Given the description of an element on the screen output the (x, y) to click on. 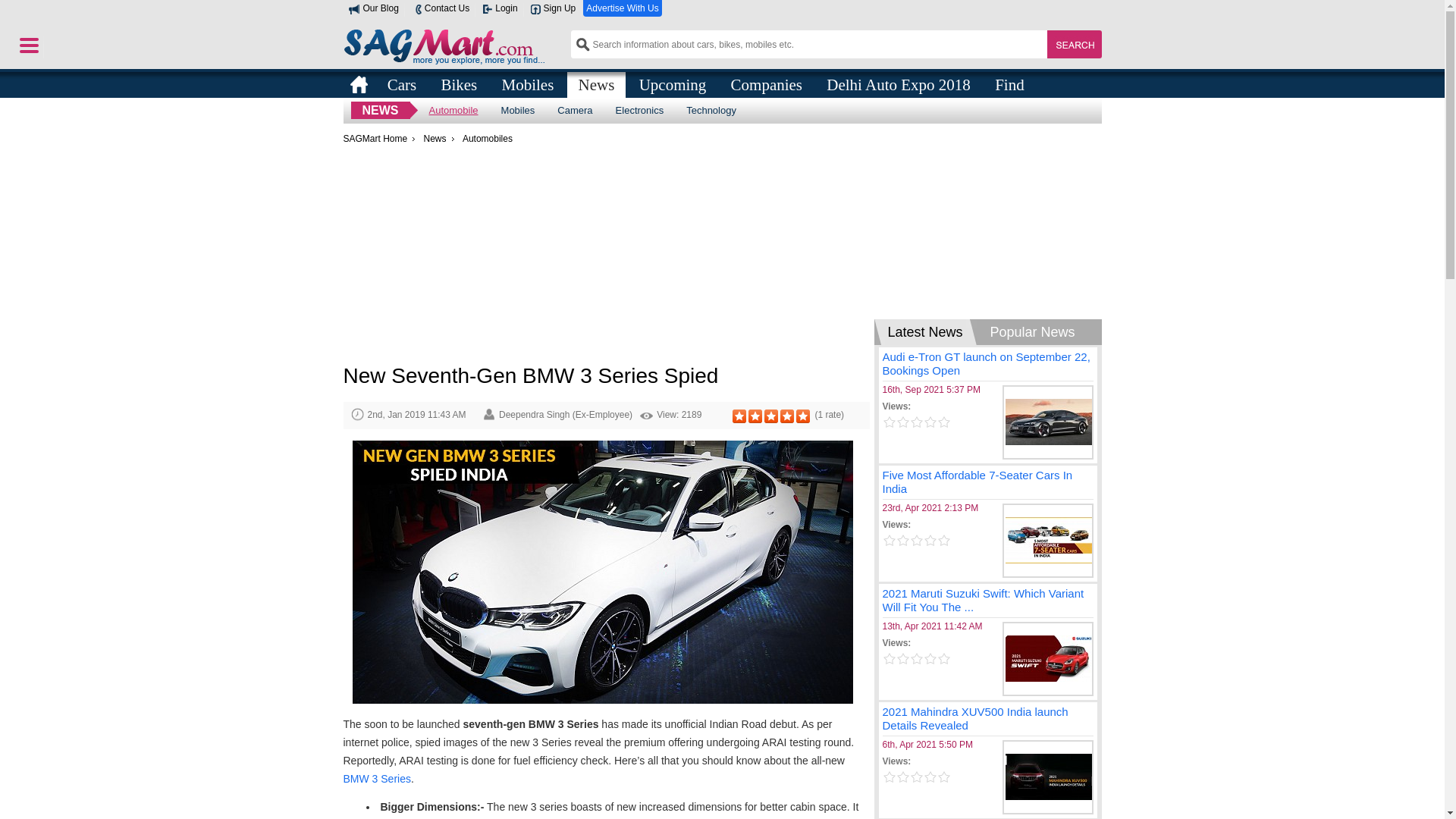
Home (358, 84)
Upcoming (672, 84)
NEWS (379, 109)
Contact Us (439, 8)
New Seventh-Gen BMW 3 Series Spied (601, 574)
Better (786, 416)
Our Blog (372, 8)
Camera (575, 109)
Home (358, 84)
Delhi Auto Expo 2018 (898, 84)
